Given the description of an element on the screen output the (x, y) to click on. 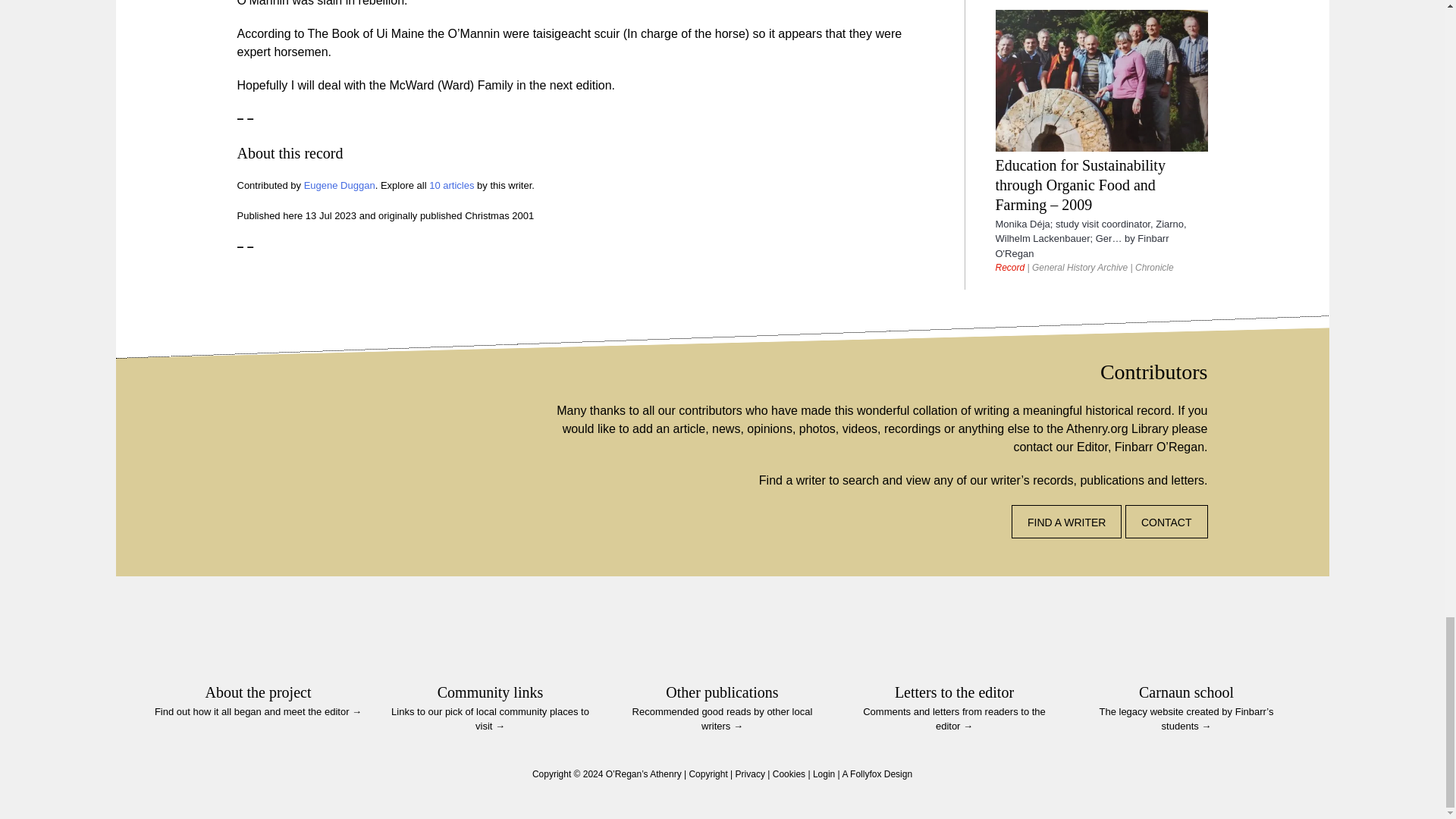
Copyright (707, 774)
CONTACT (1166, 521)
FIND A WRITER (1066, 521)
Privacy (750, 774)
10 articles (451, 184)
Cookies (789, 774)
Eugene Duggan (339, 184)
